Given the description of an element on the screen output the (x, y) to click on. 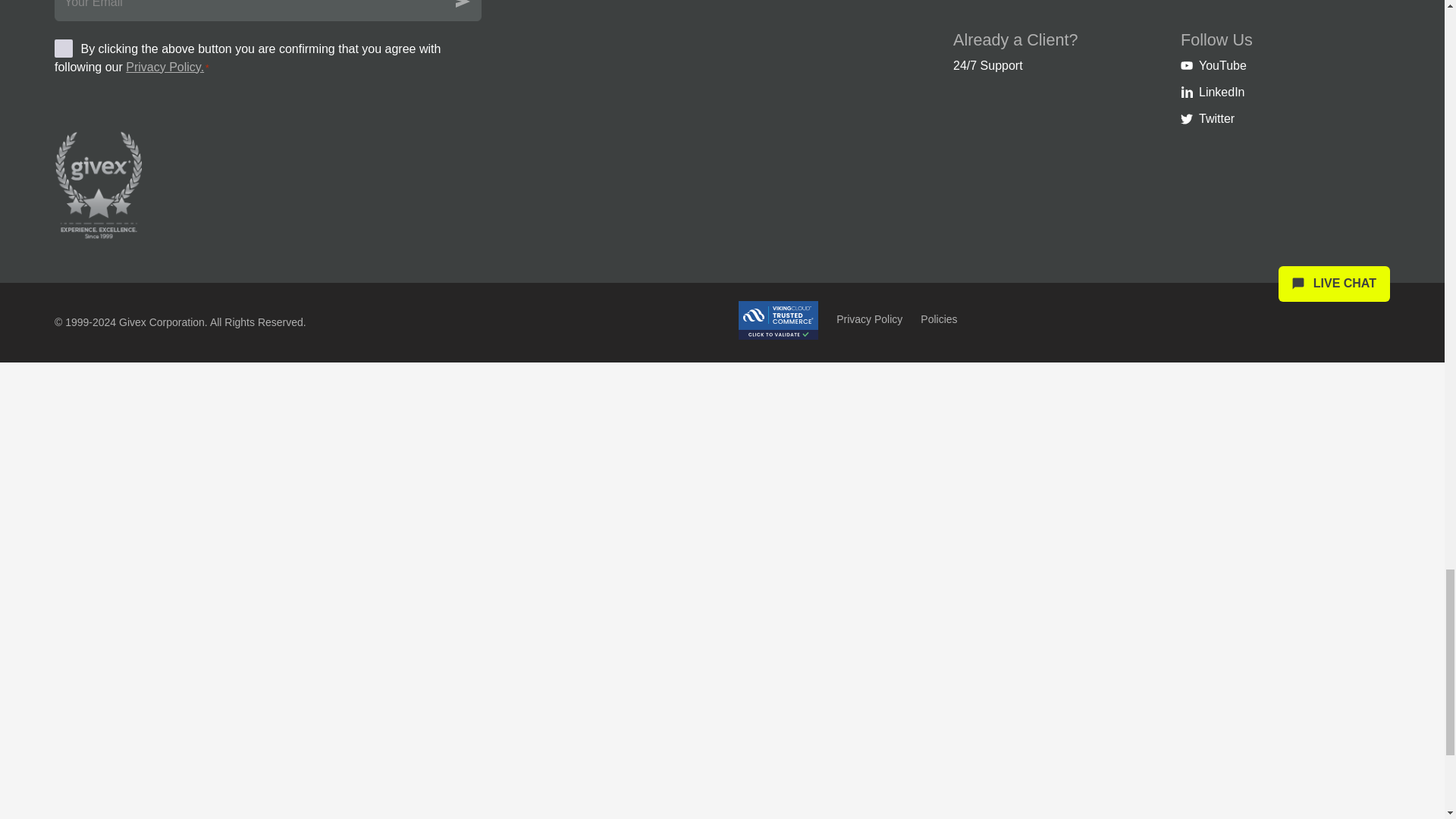
1 (63, 48)
